Given the description of an element on the screen output the (x, y) to click on. 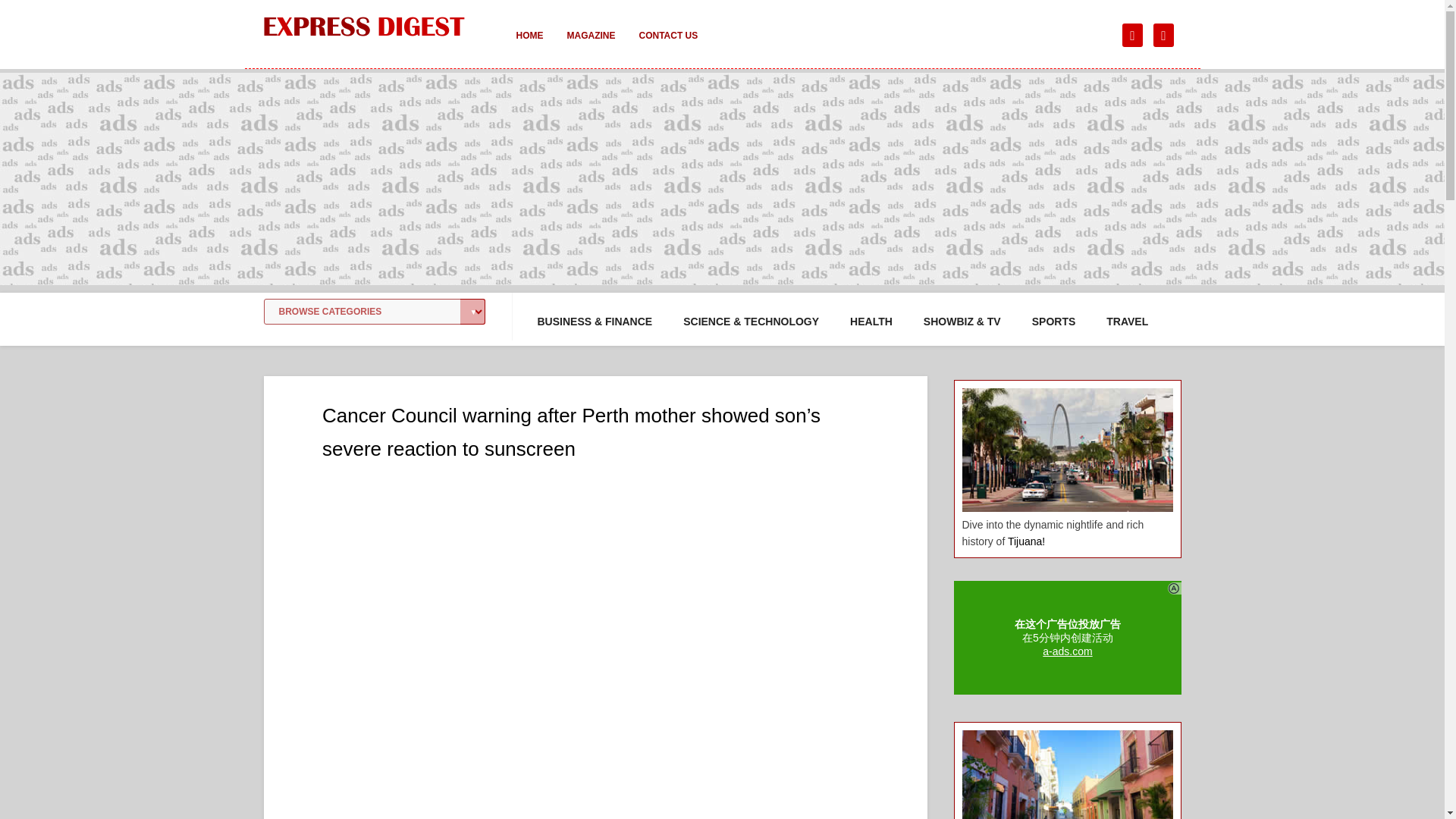
SPORTS (1053, 321)
TRAVEL (1127, 321)
Tijuana! (1026, 541)
HEALTH (871, 321)
CONTACT US (667, 45)
MAGAZINE (590, 45)
